Given the description of an element on the screen output the (x, y) to click on. 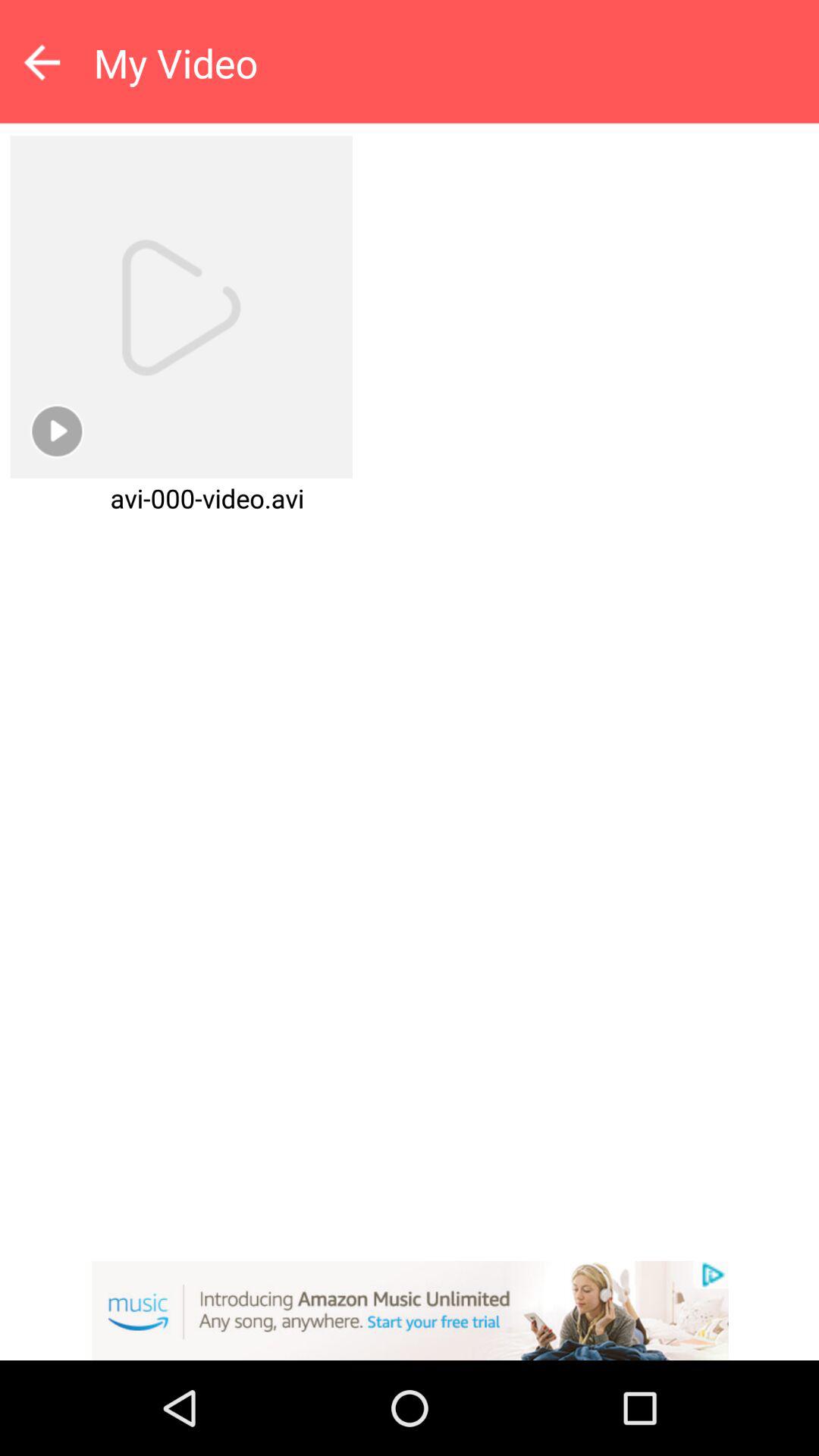
visit amazon music website (409, 1310)
